Given the description of an element on the screen output the (x, y) to click on. 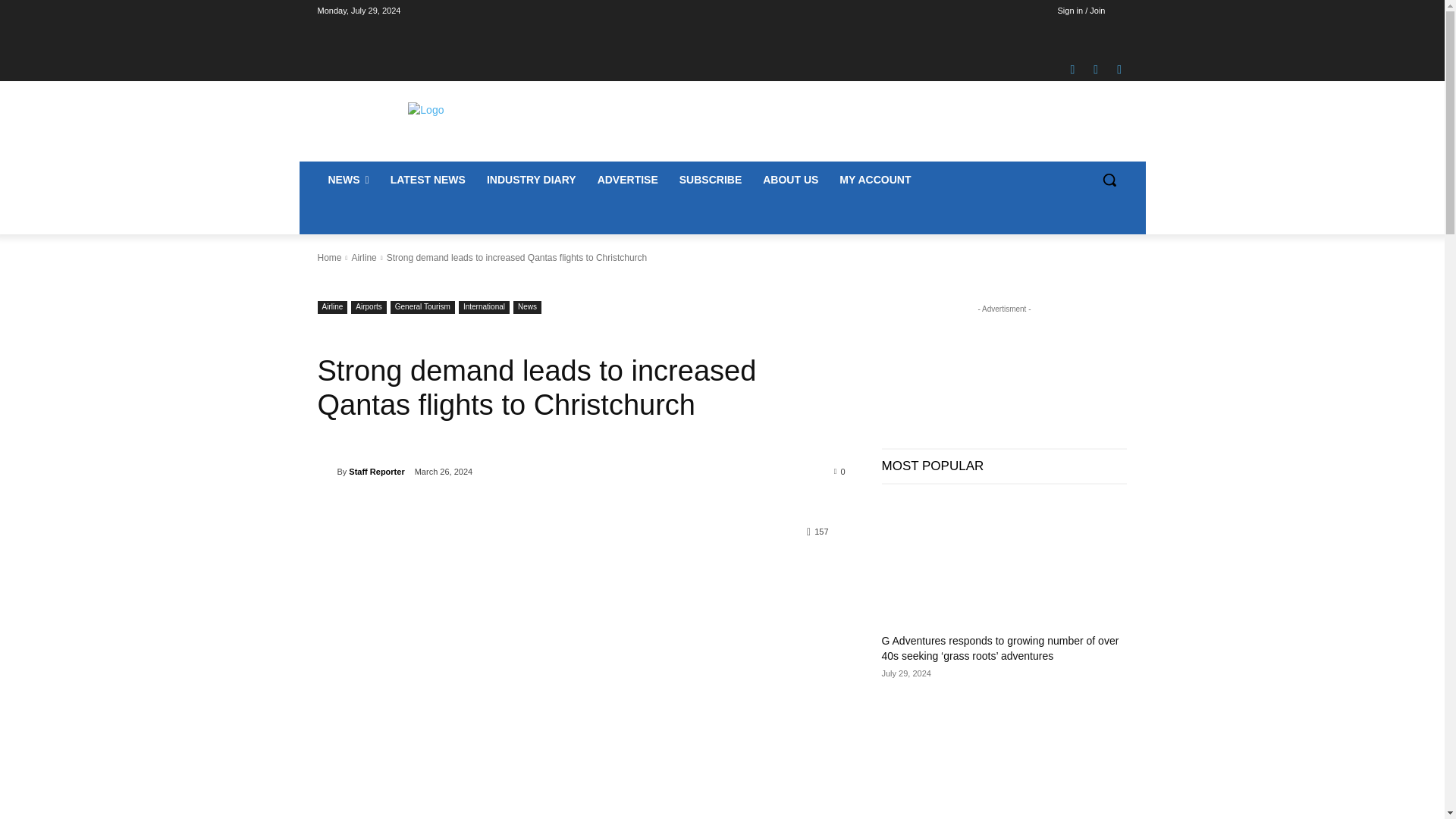
Staff Reporter (326, 471)
View all posts in Airline (362, 257)
Facebook (1072, 68)
Instagram (1095, 68)
NEWS (347, 179)
Twitter (1119, 68)
